Given the description of an element on the screen output the (x, y) to click on. 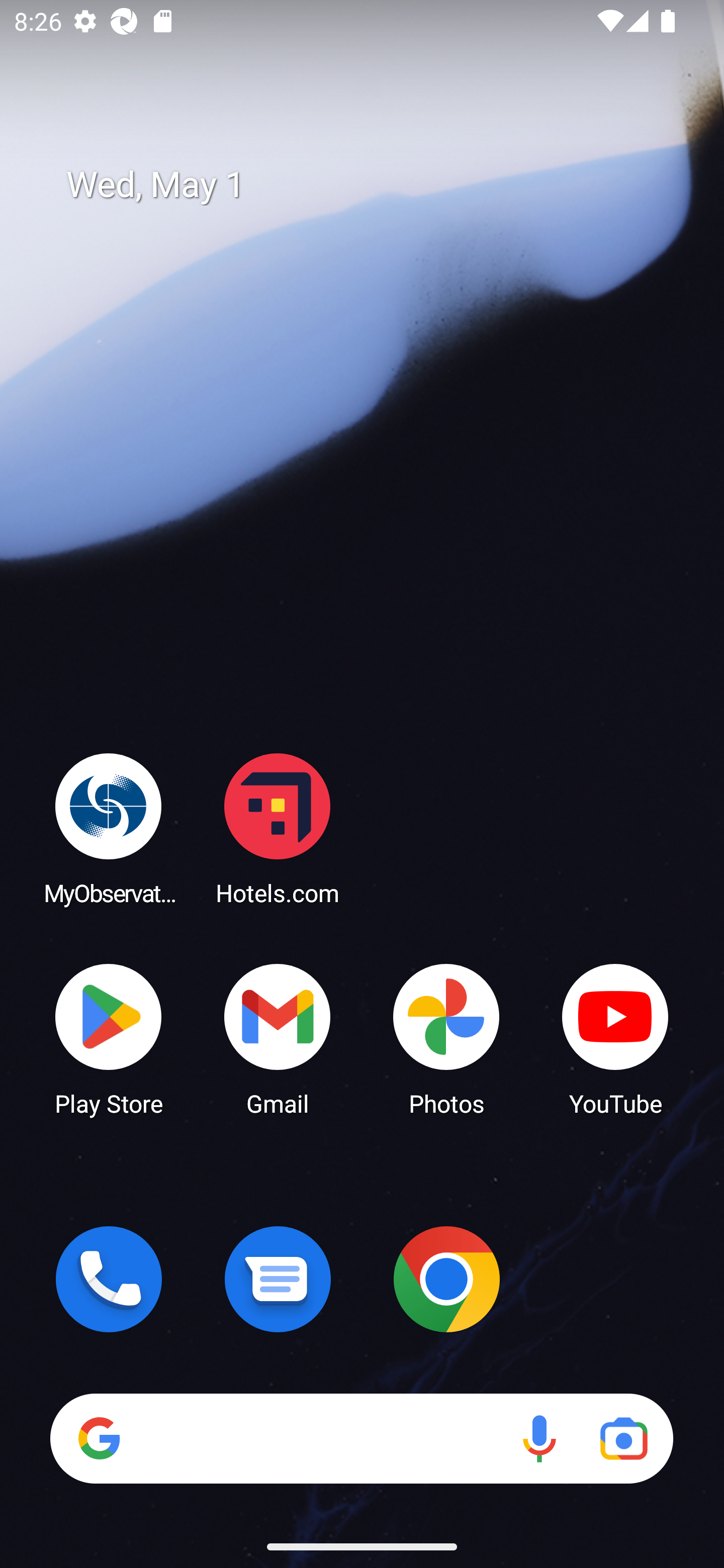
Wed, May 1 (375, 184)
MyObservatory (108, 828)
Hotels.com (277, 828)
Play Store (108, 1038)
Gmail (277, 1038)
Photos (445, 1038)
YouTube (615, 1038)
Phone (108, 1279)
Messages (277, 1279)
Chrome (446, 1279)
Search Voice search Google Lens (361, 1438)
Voice search (539, 1438)
Google Lens (623, 1438)
